Given the description of an element on the screen output the (x, y) to click on. 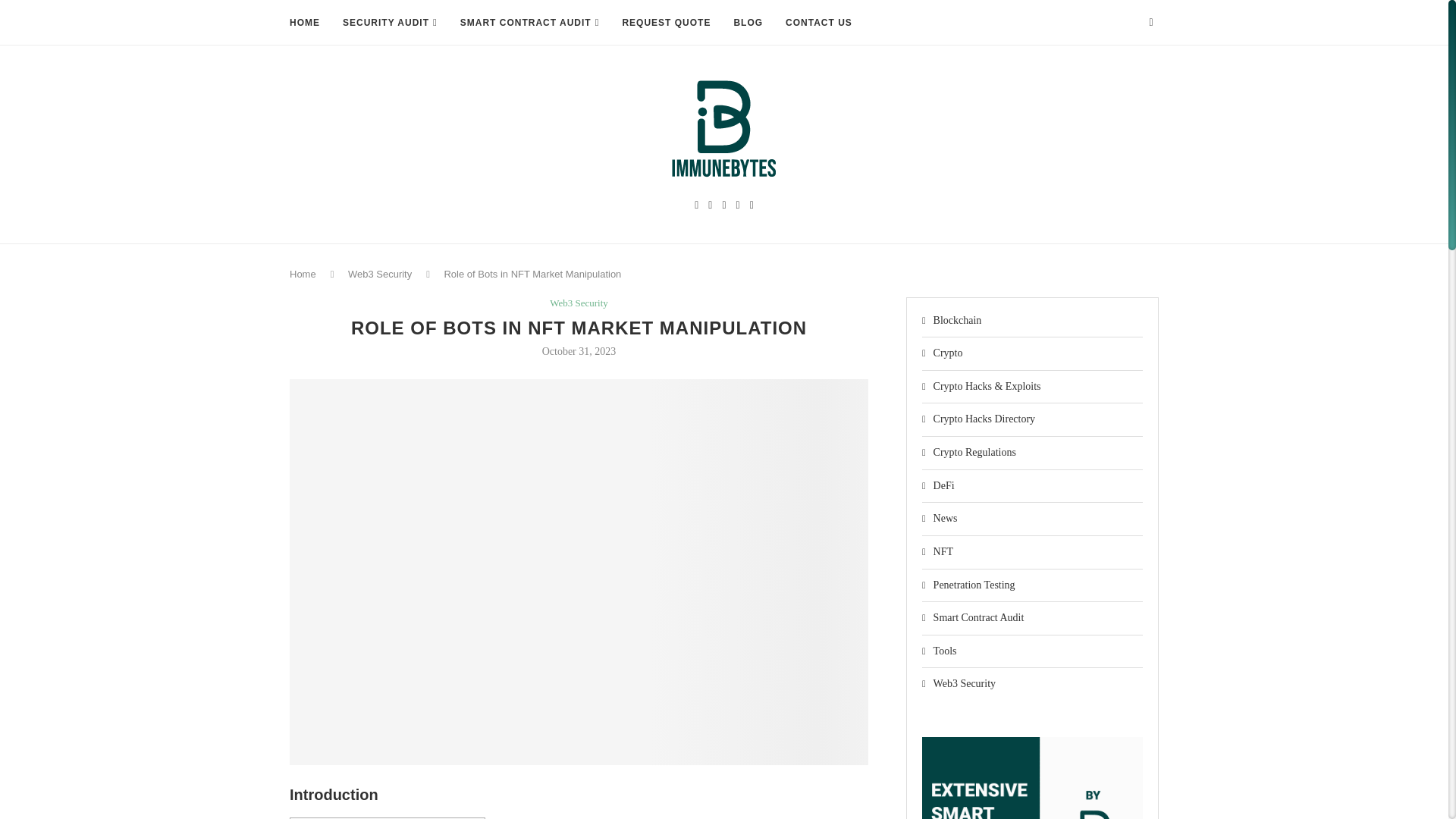
CONTACT US (818, 22)
Web3 Security (579, 303)
SMART CONTRACT AUDIT (529, 22)
Home (302, 274)
Web3 Security (379, 274)
REQUEST QUOTE (665, 22)
SECURITY AUDIT (390, 22)
